Given the description of an element on the screen output the (x, y) to click on. 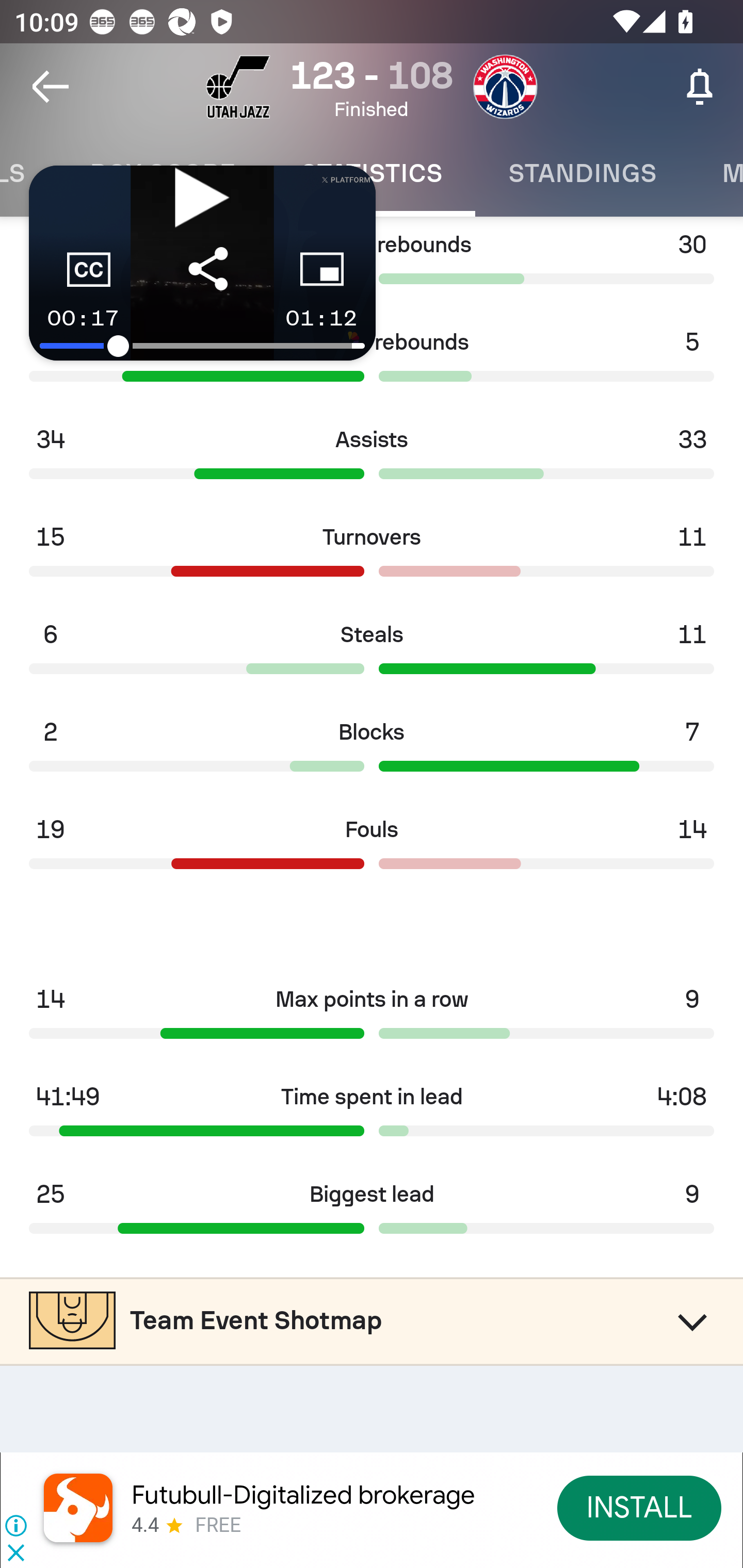
Navigate up (50, 86)
Standings STANDINGS (581, 173)
34 Assists 33 507.0 492.0 (371, 459)
15 Turnovers 11 576.0 423.0 (371, 556)
6 Steals 11 352.0 647.0 (371, 653)
2 Blocks 7 222.0 777.0 (371, 751)
19 Fouls 14 575.0 424.0 (371, 849)
14 Max points in a row 9 608.0 391.0 (371, 1018)
41:49 Time spent in lead 4:08 910.0 89.0 (371, 1116)
25 Biggest lead 9 735.0 264.0 (371, 1213)
Team Event Shotmap (371, 1320)
INSTALL (639, 1507)
Futubull-Digitalized brokerage (302, 1494)
